Given the description of an element on the screen output the (x, y) to click on. 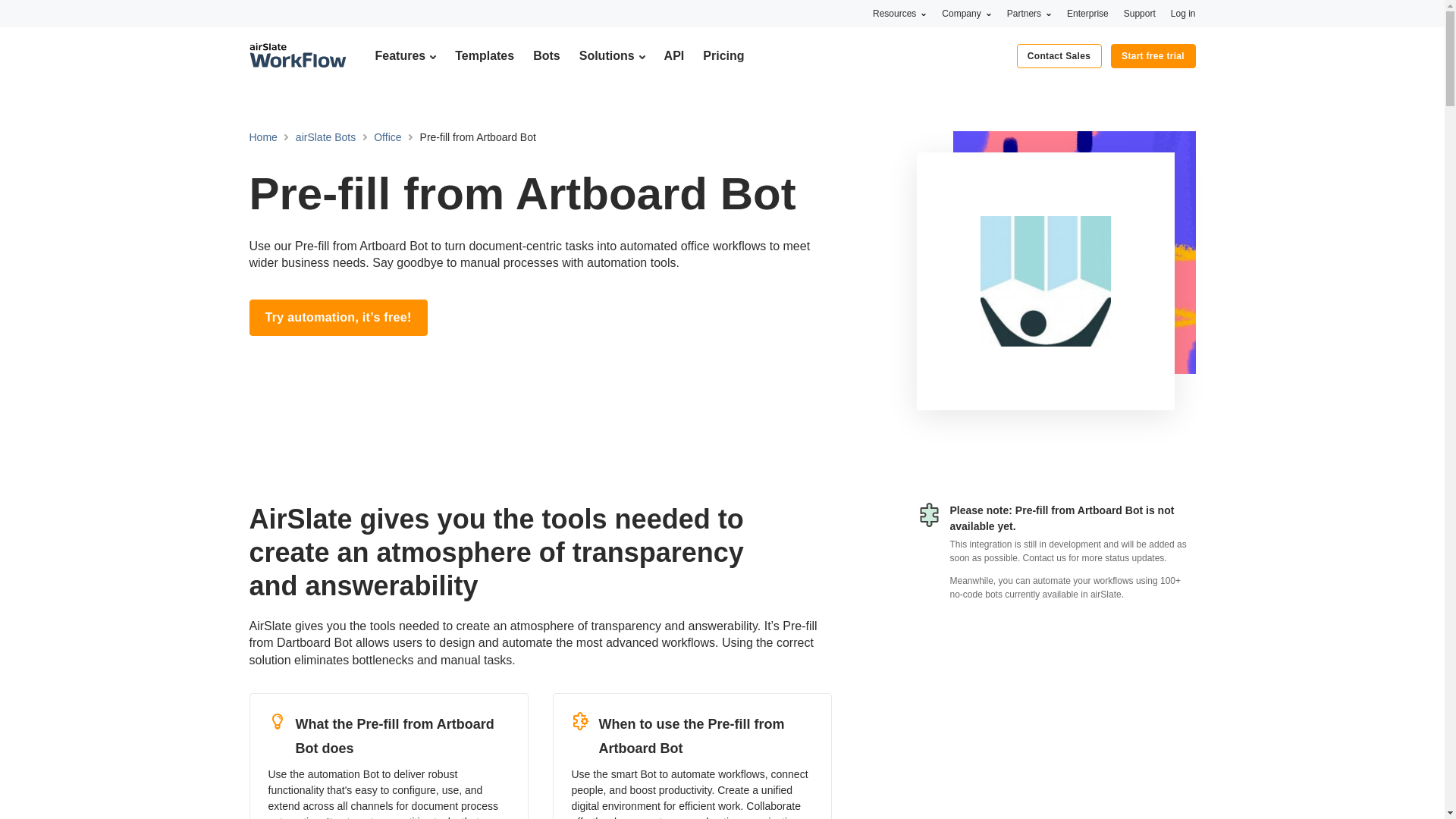
Log in (1182, 13)
Templates (483, 55)
Partners (1029, 13)
Company (966, 13)
Support (1140, 13)
Resources (899, 13)
Enterprise (1087, 13)
Bots (546, 55)
